Given the description of an element on the screen output the (x, y) to click on. 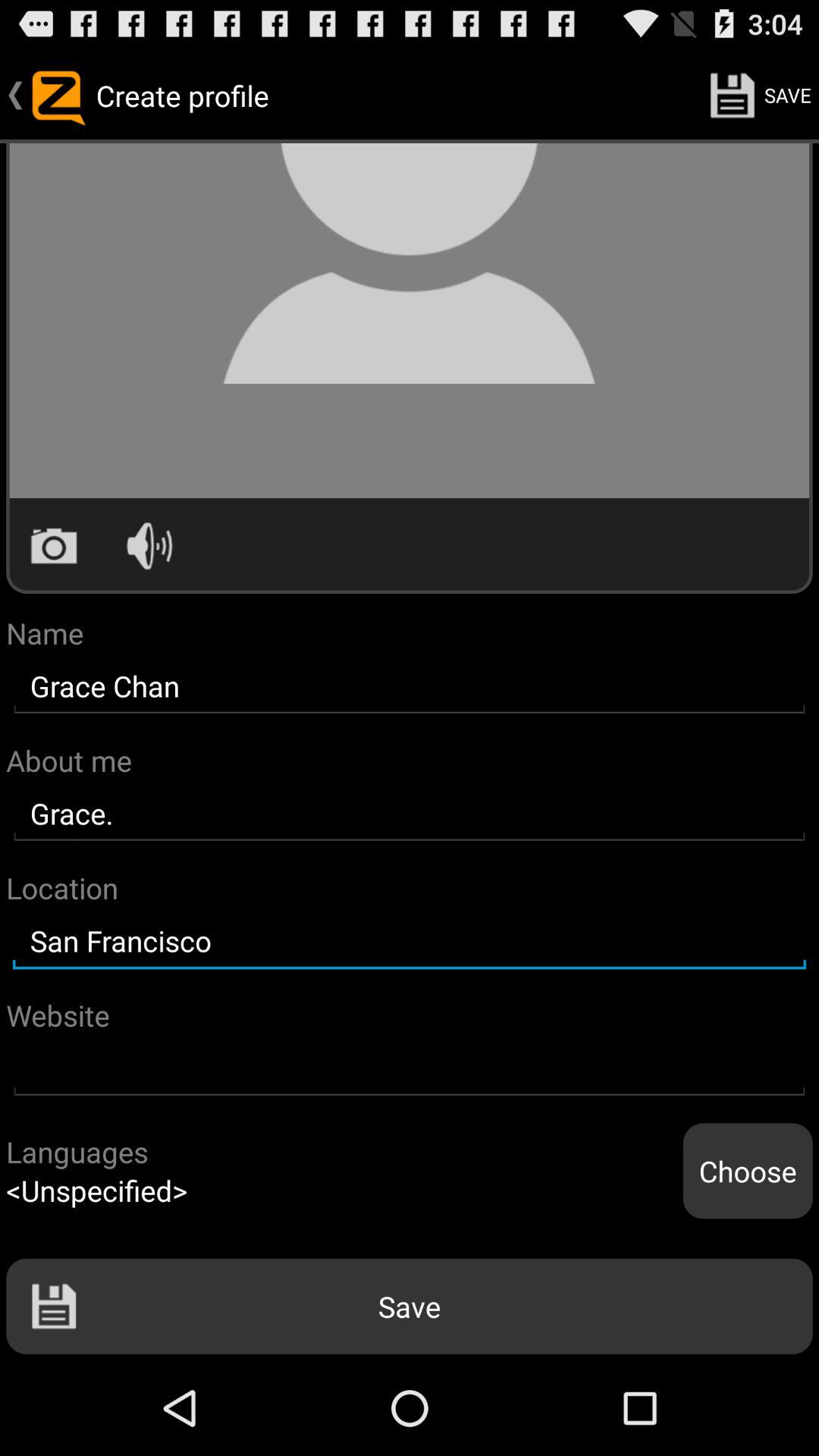
enter website address (409, 1068)
